Given the description of an element on the screen output the (x, y) to click on. 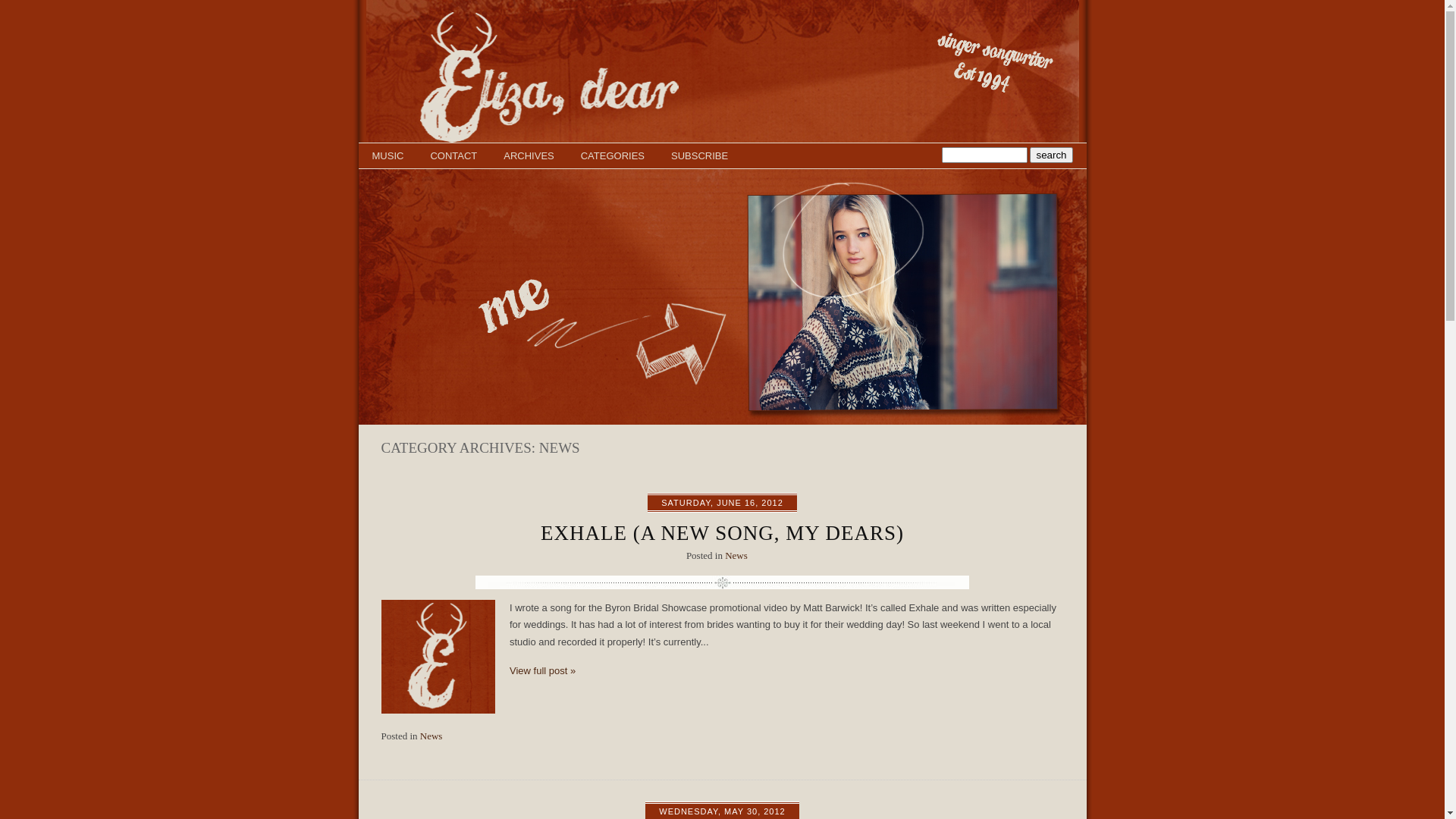
ARCHIVES Element type: text (528, 155)
EXHALE (A NEW SONG, MY DEARS) Element type: text (721, 532)
MUSIC Element type: text (387, 155)
CATEGORIES Element type: text (612, 155)
elizadear.com.au Element type: hover (721, 138)
search Element type: text (1050, 155)
News Element type: text (735, 555)
CONTACT Element type: text (452, 155)
News Element type: text (431, 735)
SUBSCRIBE Element type: text (699, 155)
